Given the description of an element on the screen output the (x, y) to click on. 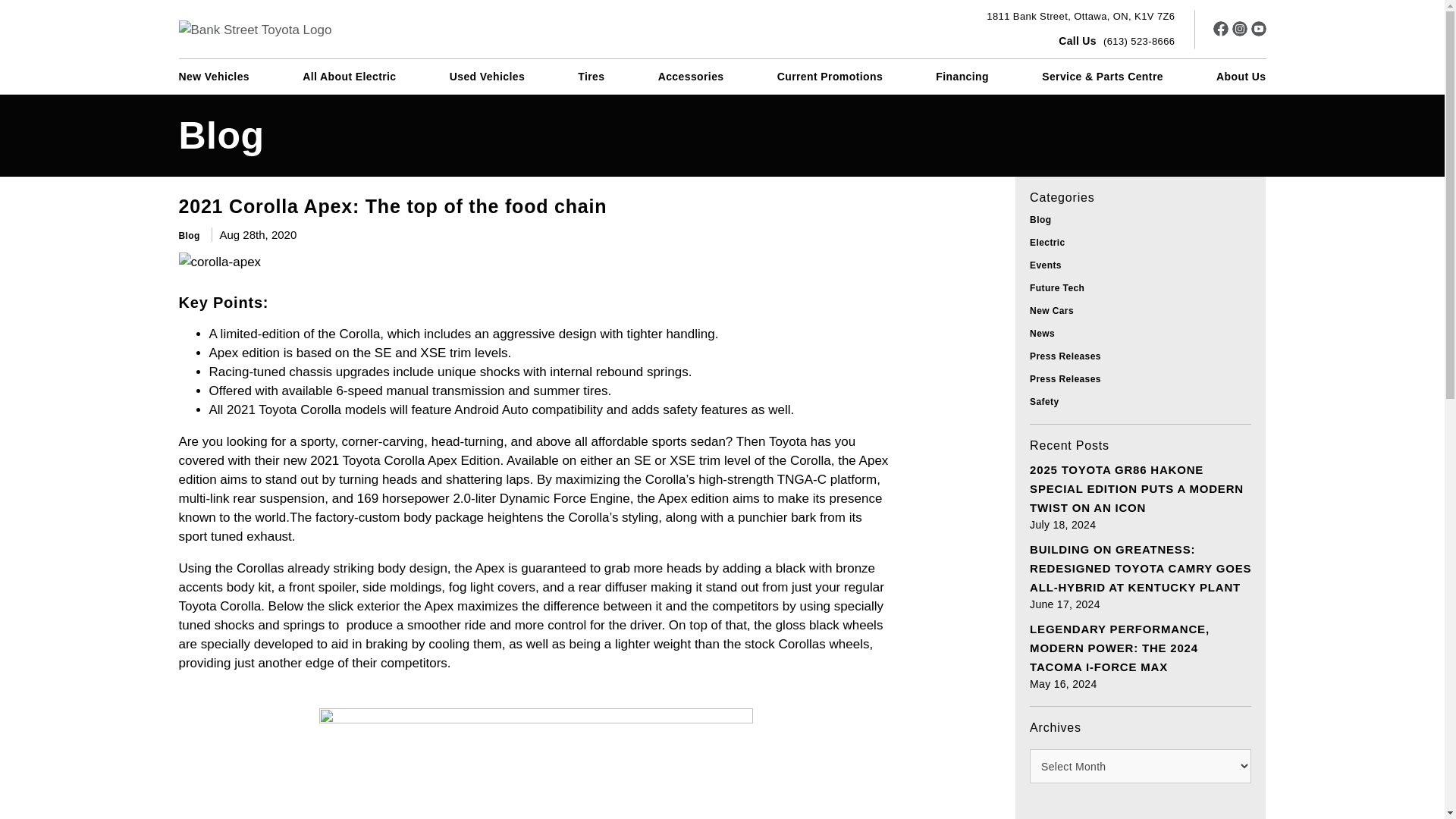
Current Promotions (829, 76)
Accessories (690, 76)
All About Electric (349, 76)
Financing (962, 76)
Used Vehicles (1080, 16)
New Vehicles (486, 76)
